Given the description of an element on the screen output the (x, y) to click on. 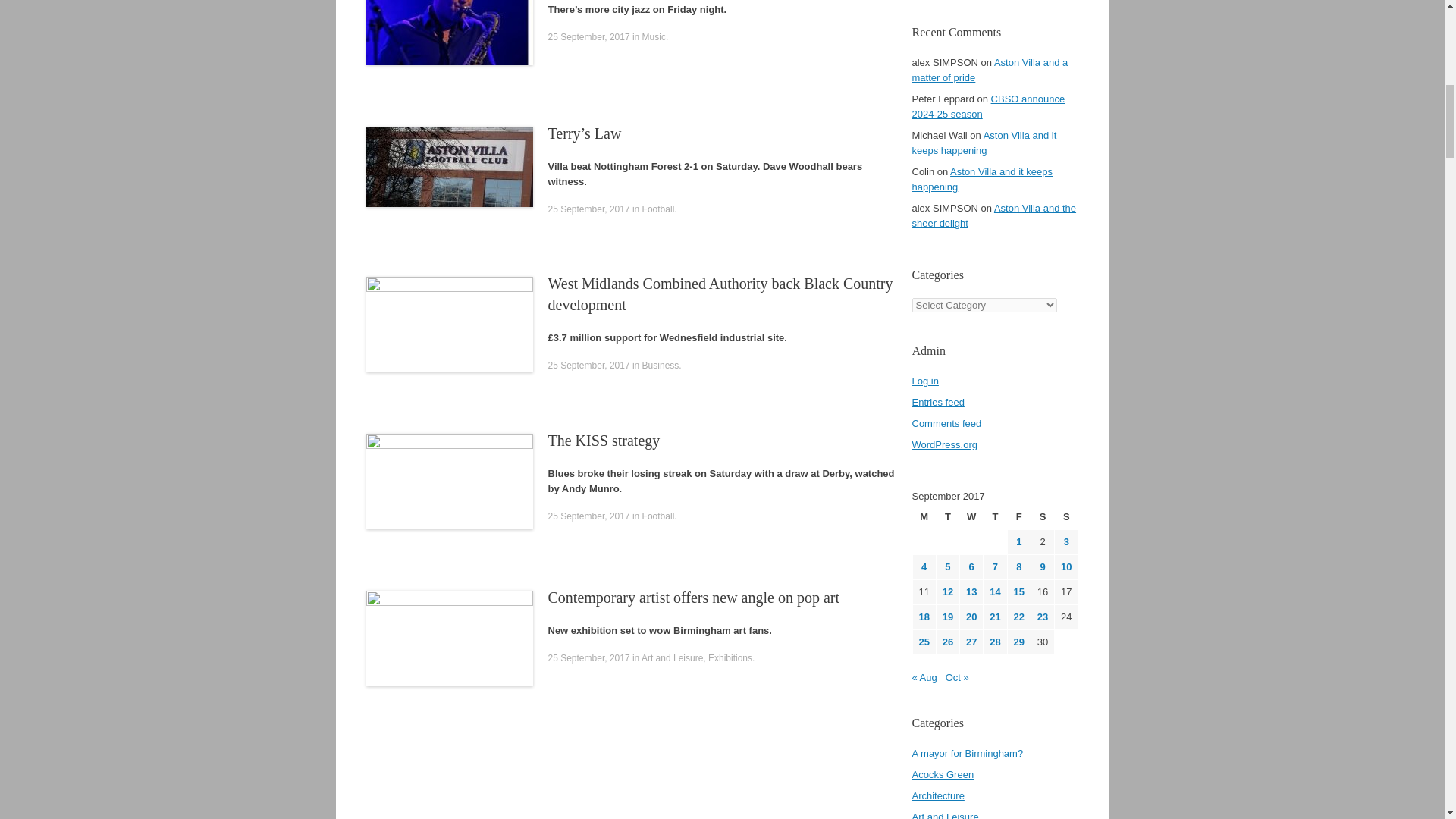
Football (658, 208)
25 September, 2017 (587, 208)
Thursday (995, 517)
Friday (1018, 517)
25 September, 2017 (587, 657)
Art and Leisure (672, 657)
Tuesday (947, 517)
Exhibitions (729, 657)
25 September, 2017 (587, 516)
Aston Villa and a matter of pride (989, 69)
